Given the description of an element on the screen output the (x, y) to click on. 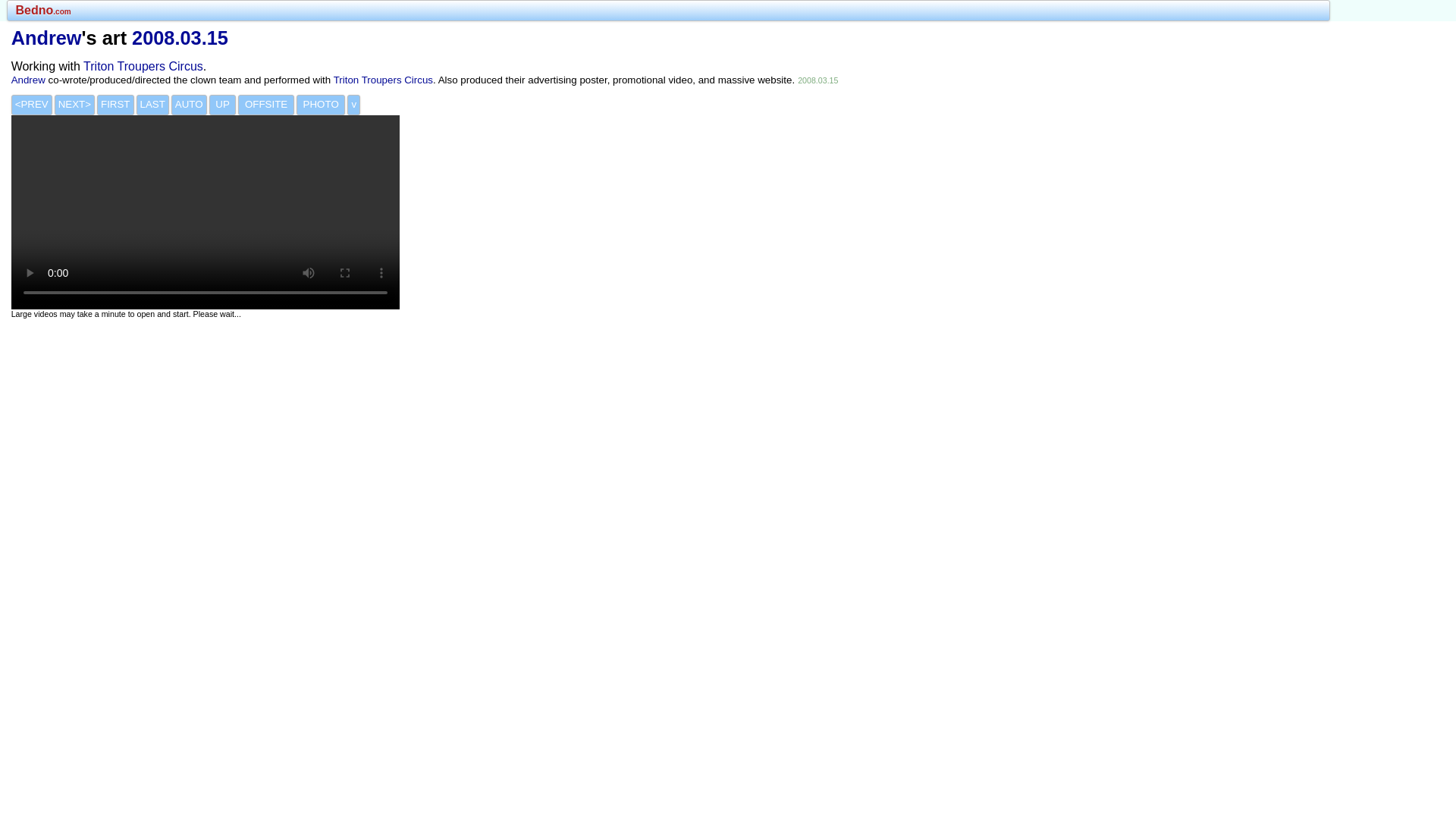
 OFFSITE  (266, 105)
AUTO (188, 105)
AUTO (188, 105)
Return to Still. (321, 105)
Andrew (46, 37)
Prev (31, 105)
First (115, 105)
2008.03.15 (180, 37)
Andrew (28, 79)
Back to Visual Works (222, 105)
